Given the description of an element on the screen output the (x, y) to click on. 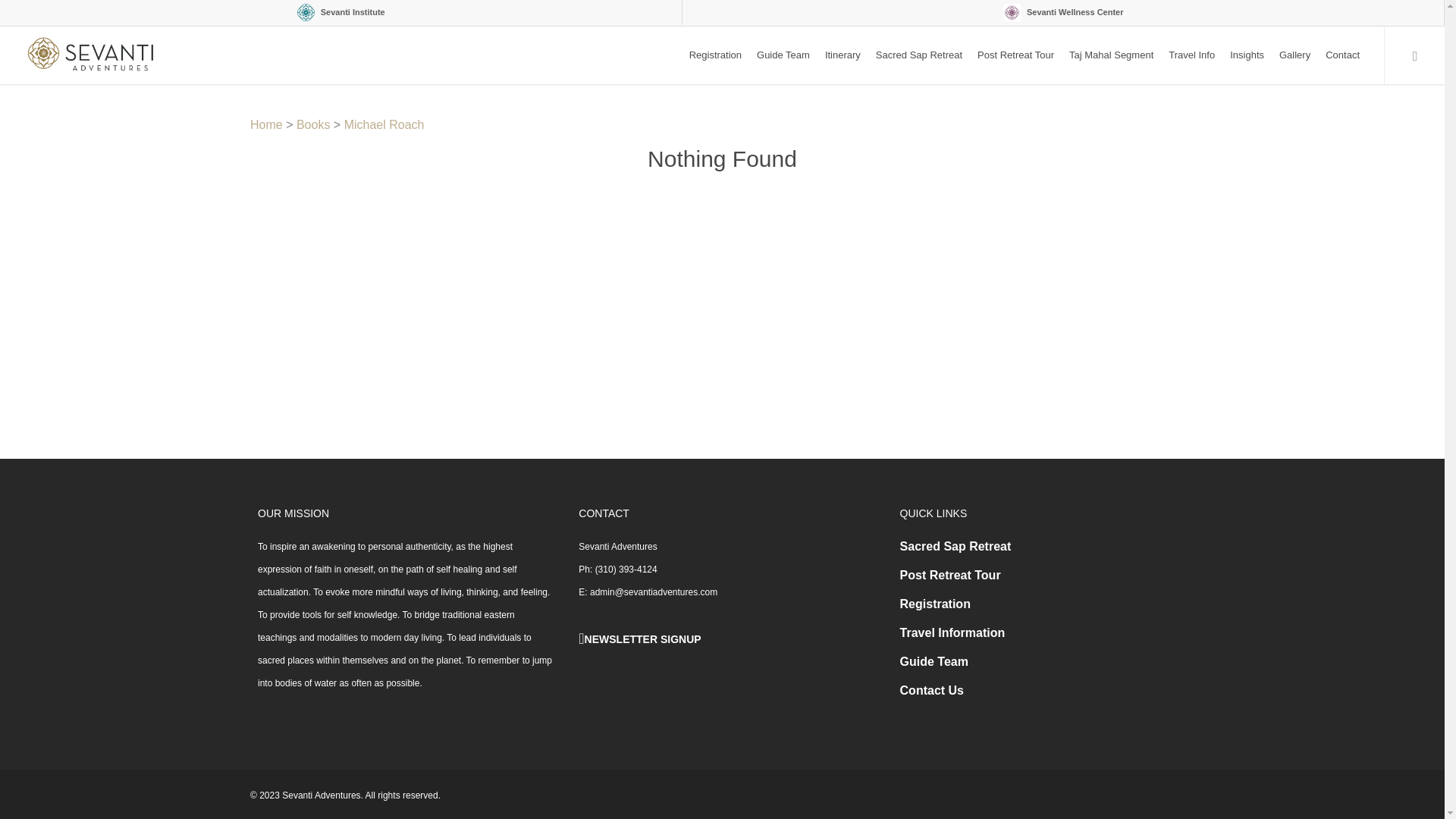
Itinerary (841, 55)
Sevanti Institute (341, 12)
Post Retreat Tour (1015, 55)
Sacred Sap Retreat (918, 55)
Guide Team (782, 55)
Registration (715, 55)
